Given the description of an element on the screen output the (x, y) to click on. 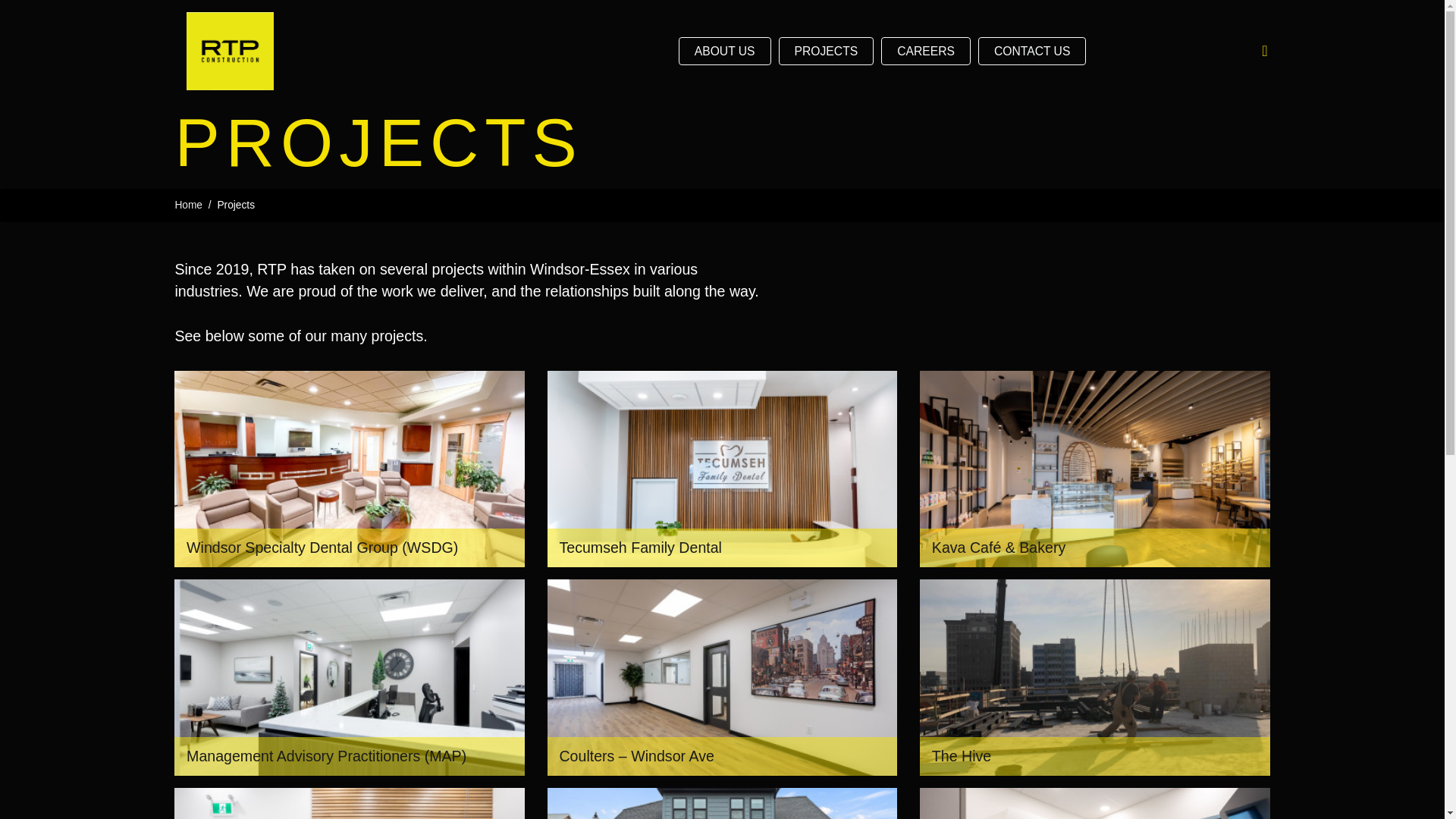
Home (188, 204)
CONTACT US (1032, 51)
Essex Family Dental (349, 803)
Essex Family Dental (349, 803)
Amherstburg Mixed Use Building (721, 803)
The Hive (1094, 677)
The Hive (1094, 677)
Tecumseh Family Dental (721, 469)
Archway Dental (1094, 803)
PROJECTS (826, 51)
ABOUT US (724, 51)
CAREERS (925, 51)
Tecumseh Family Dental (721, 469)
Amherstburg Mixed Use Building (721, 803)
Archway Dental (1094, 803)
